Given the description of an element on the screen output the (x, y) to click on. 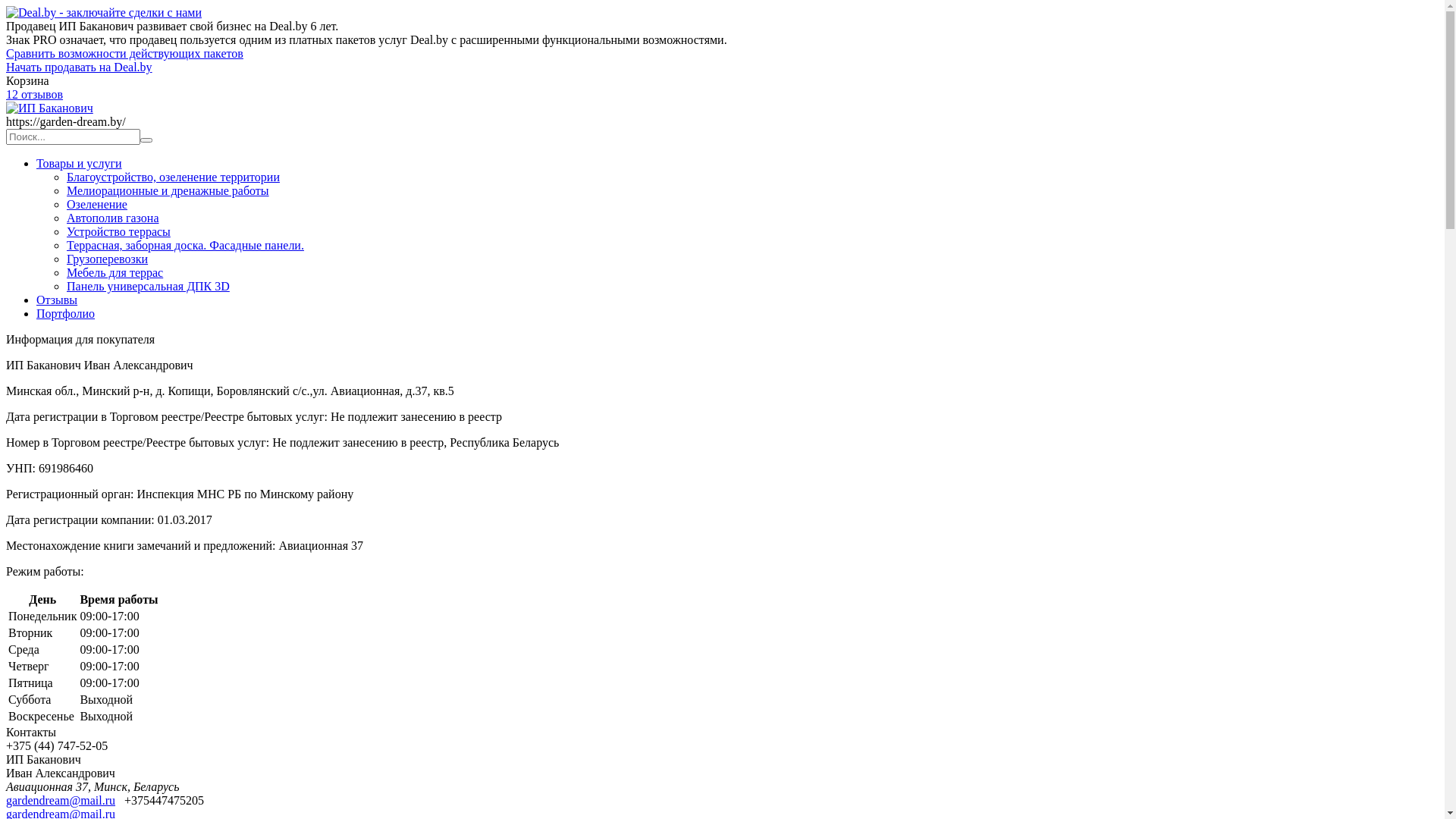
gardendream@mail.ru Element type: text (60, 799)
